Given the description of an element on the screen output the (x, y) to click on. 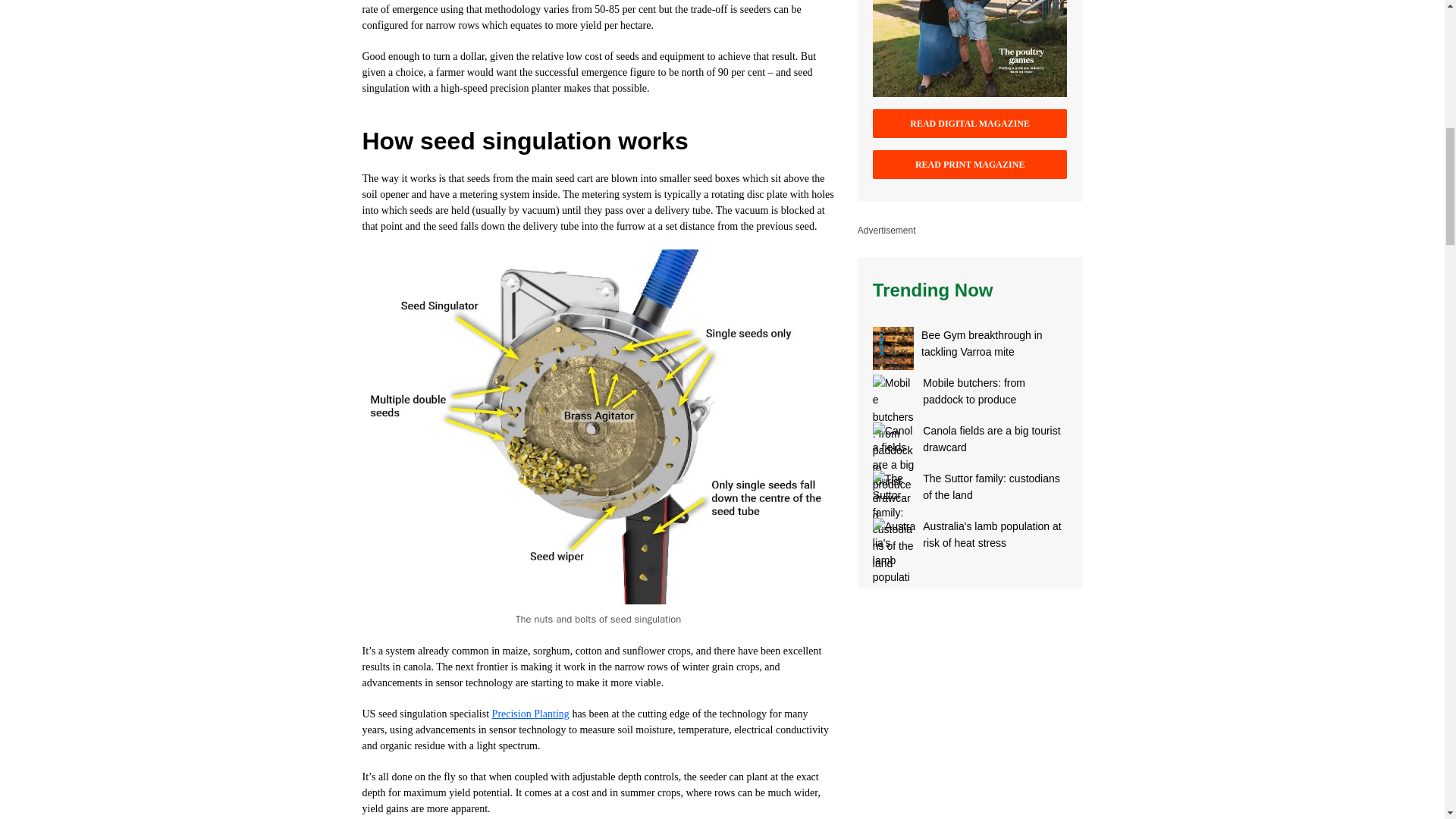
Canola fields are a  big tourist drawcard (893, 444)
Canola fields are a  big tourist drawcard (995, 444)
Australia's lamb population at risk of heat stress (893, 539)
The Suttor family: custodians of the land (995, 491)
Precision Planting (530, 713)
The Suttor family: custodians of the land (893, 491)
Bee Gym breakthrough in tackling Varroa mite (994, 348)
Mobile butchers: from paddock to produce (893, 395)
Australia's lamb population at risk of heat stress (995, 539)
Mobile butchers: from paddock to produce (995, 395)
